Given the description of an element on the screen output the (x, y) to click on. 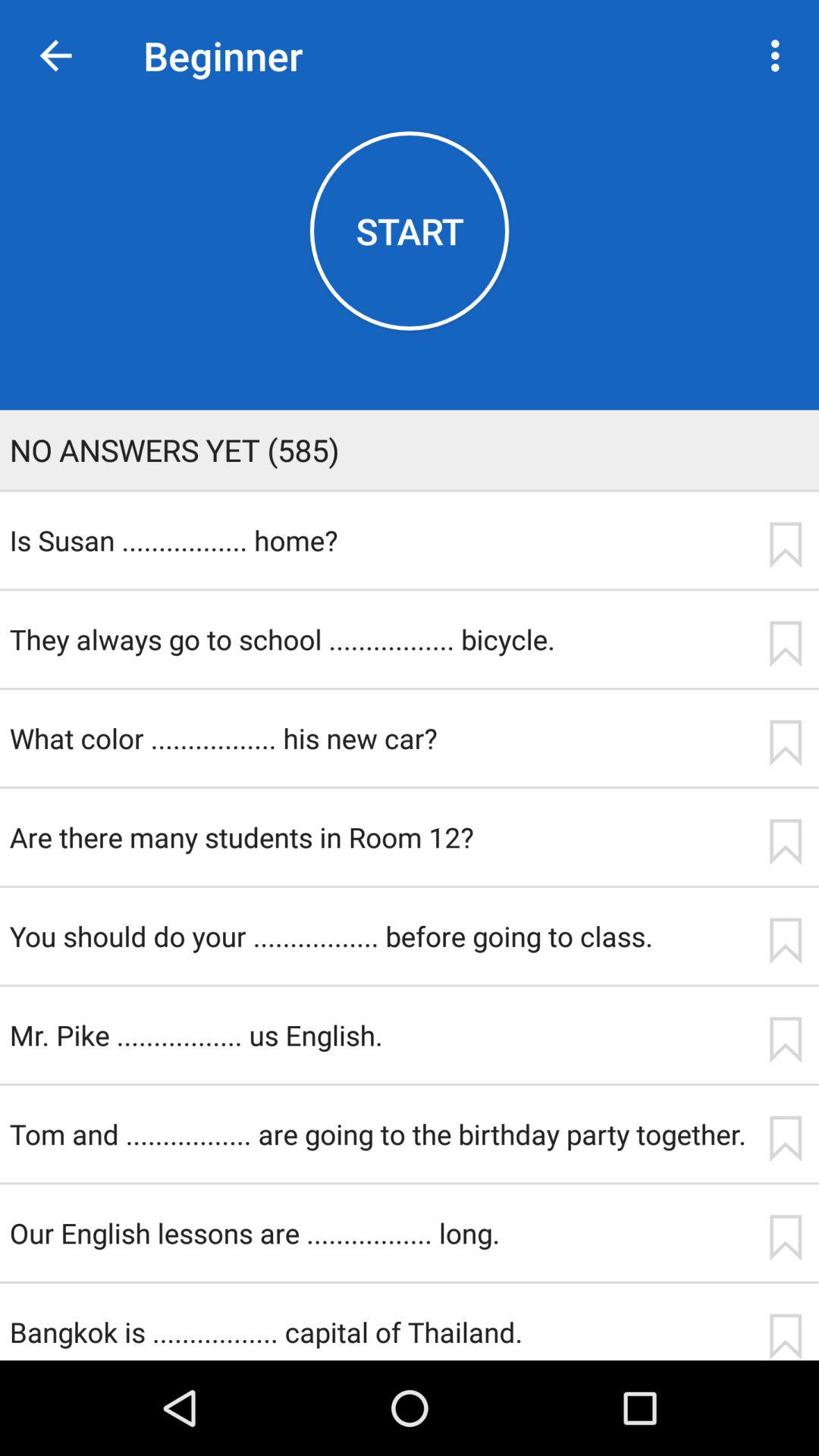
click last option (784, 940)
